Given the description of an element on the screen output the (x, y) to click on. 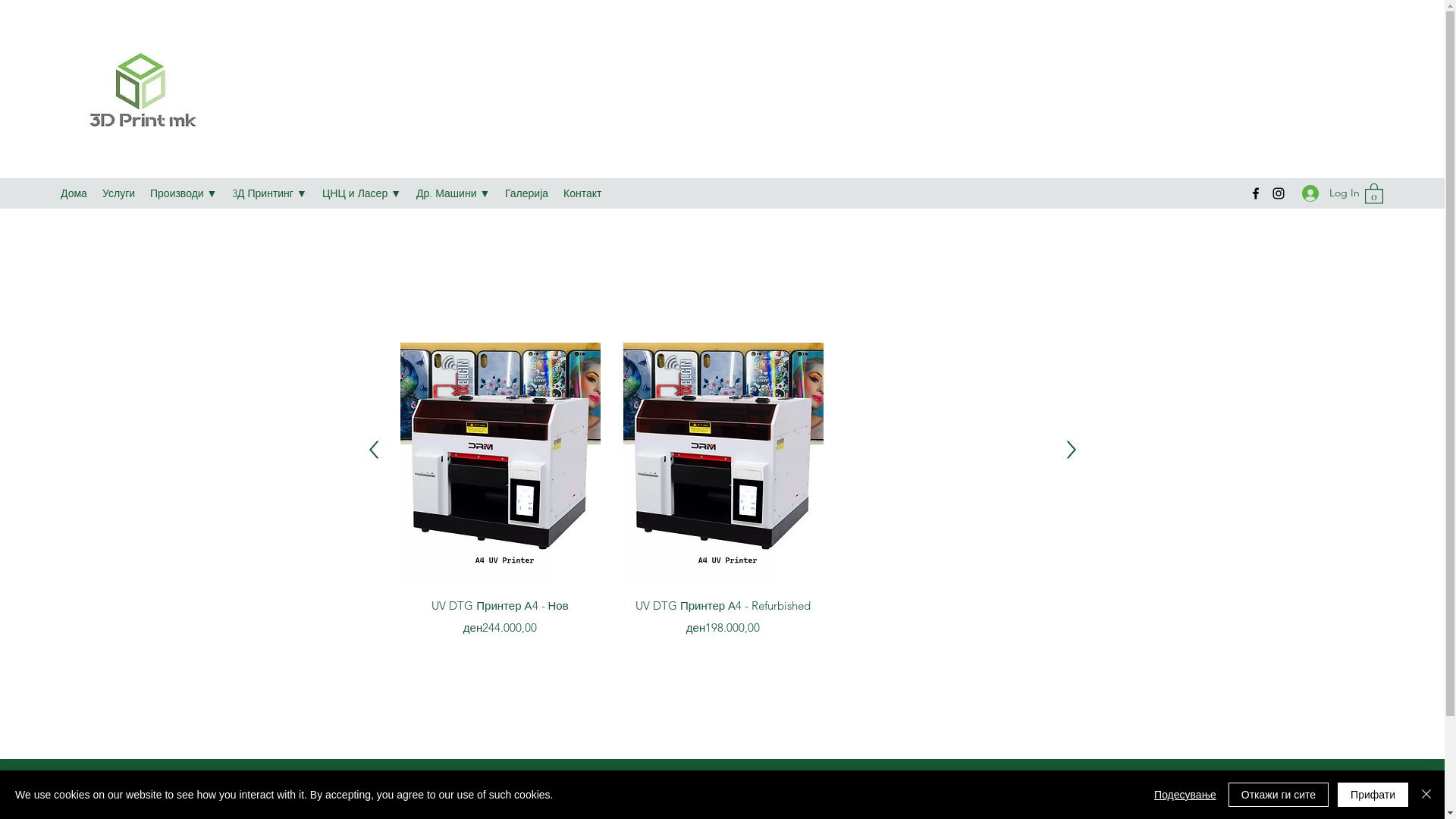
0 Element type: text (1374, 192)
Log In Element type: text (1325, 192)
